Given the description of an element on the screen output the (x, y) to click on. 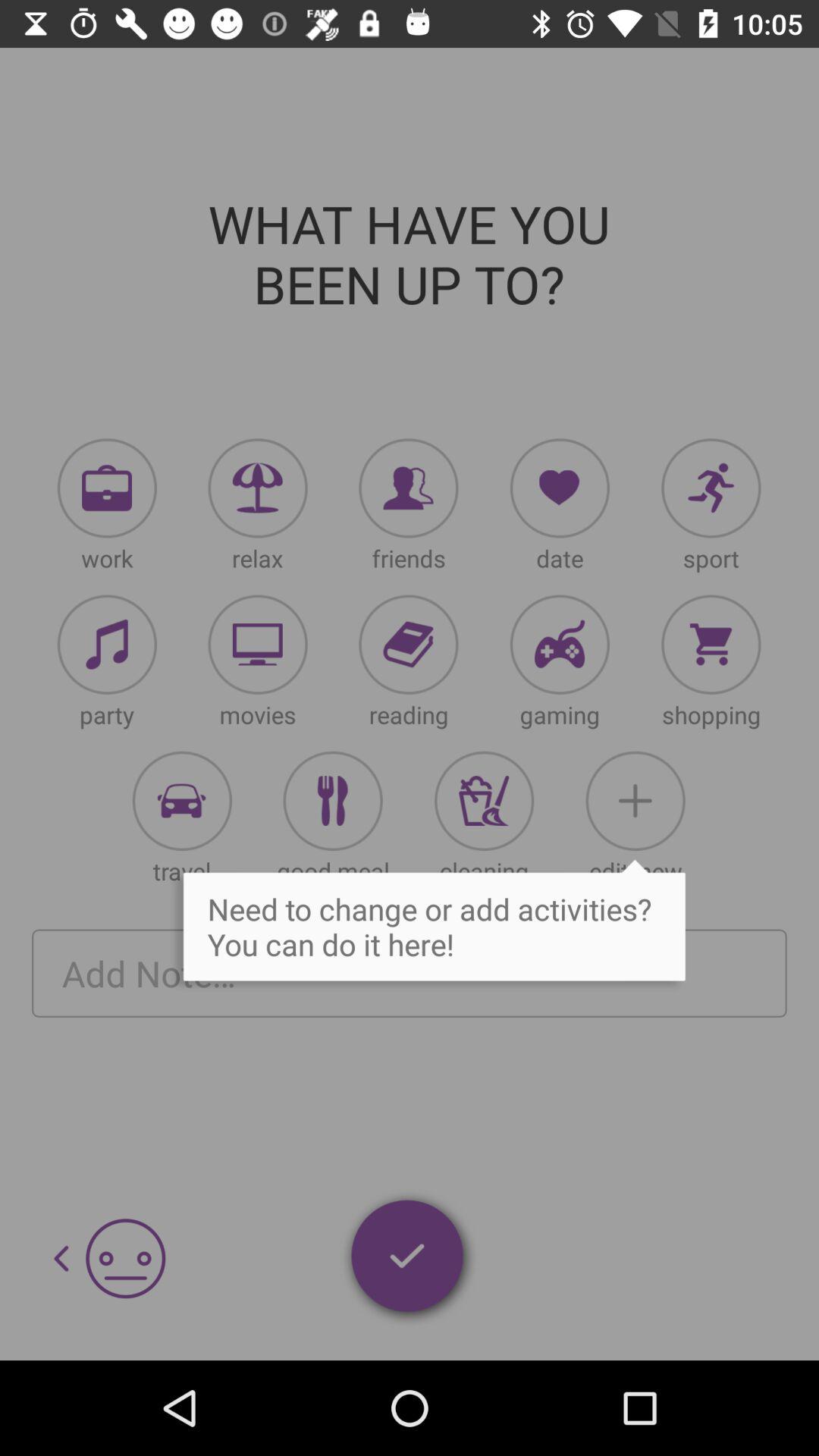
need activities (710, 488)
